Given the description of an element on the screen output the (x, y) to click on. 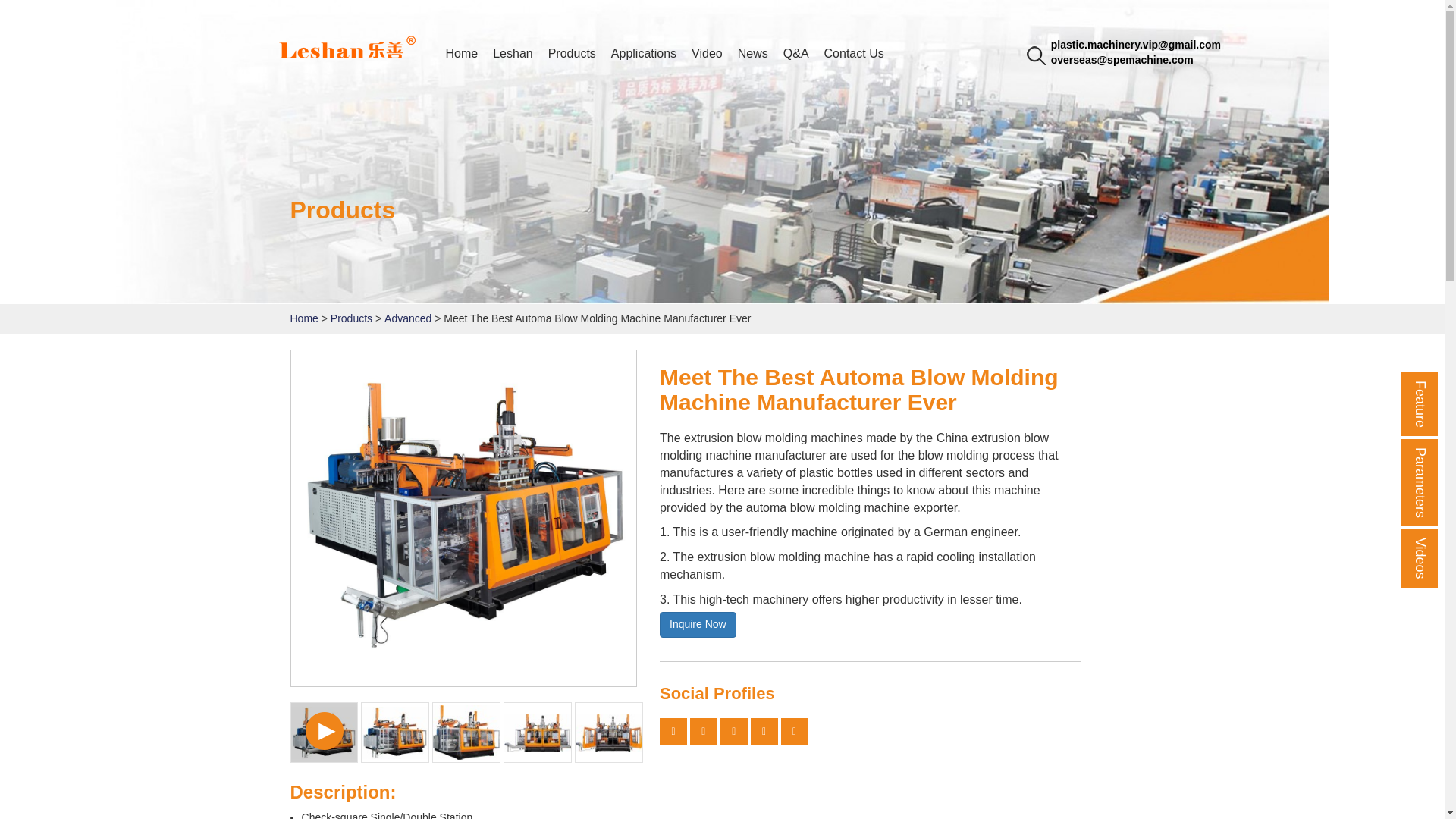
Leshan (346, 47)
Video (706, 57)
Products (351, 318)
Home (462, 57)
SEARCH (1034, 53)
Inquire Now (697, 624)
Leshan (512, 57)
Contact Us (853, 57)
Meet The Best Automa Blow Molding Machine Manufacturer Ever (464, 518)
